Given the description of an element on the screen output the (x, y) to click on. 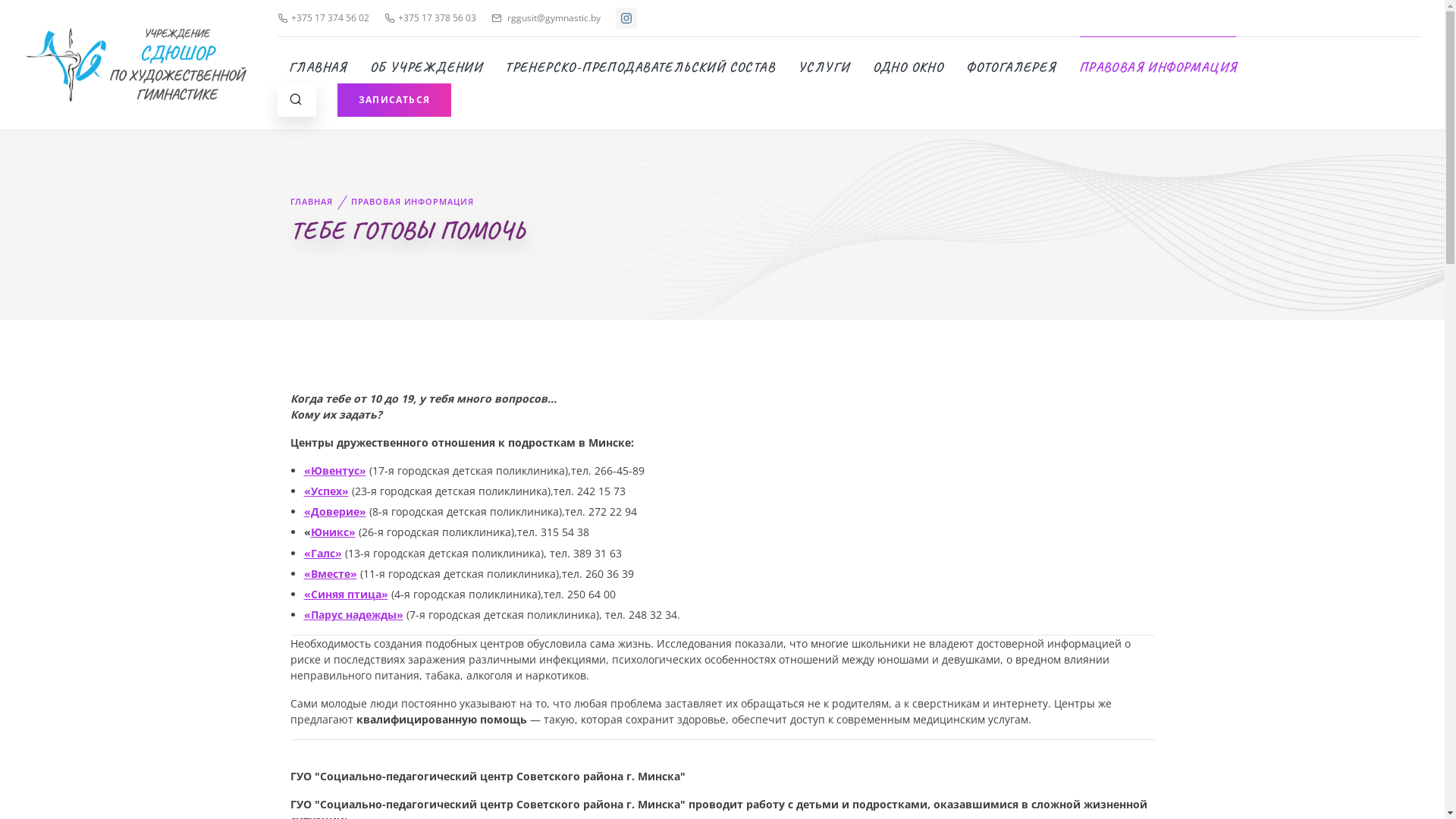
+375 17 374 56 02 Element type: text (323, 18)
rggusit@gymnastic.by Element type: text (545, 18)
+375 17 378 56 03 Element type: text (430, 18)
